Given the description of an element on the screen output the (x, y) to click on. 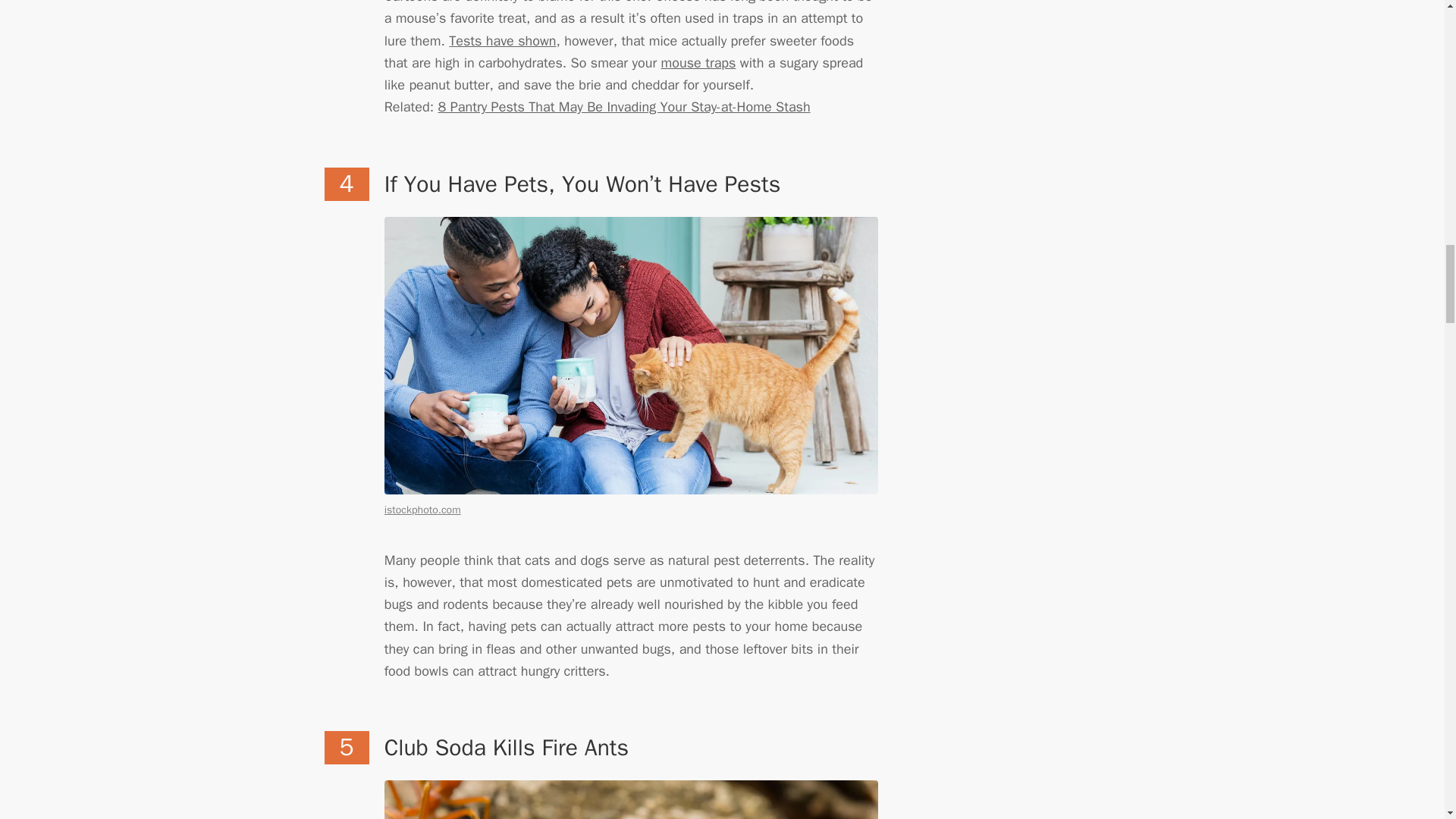
istockphoto.com (422, 509)
8 Pantry Pests That May Be Invading Your Food Stash (624, 106)
